Given the description of an element on the screen output the (x, y) to click on. 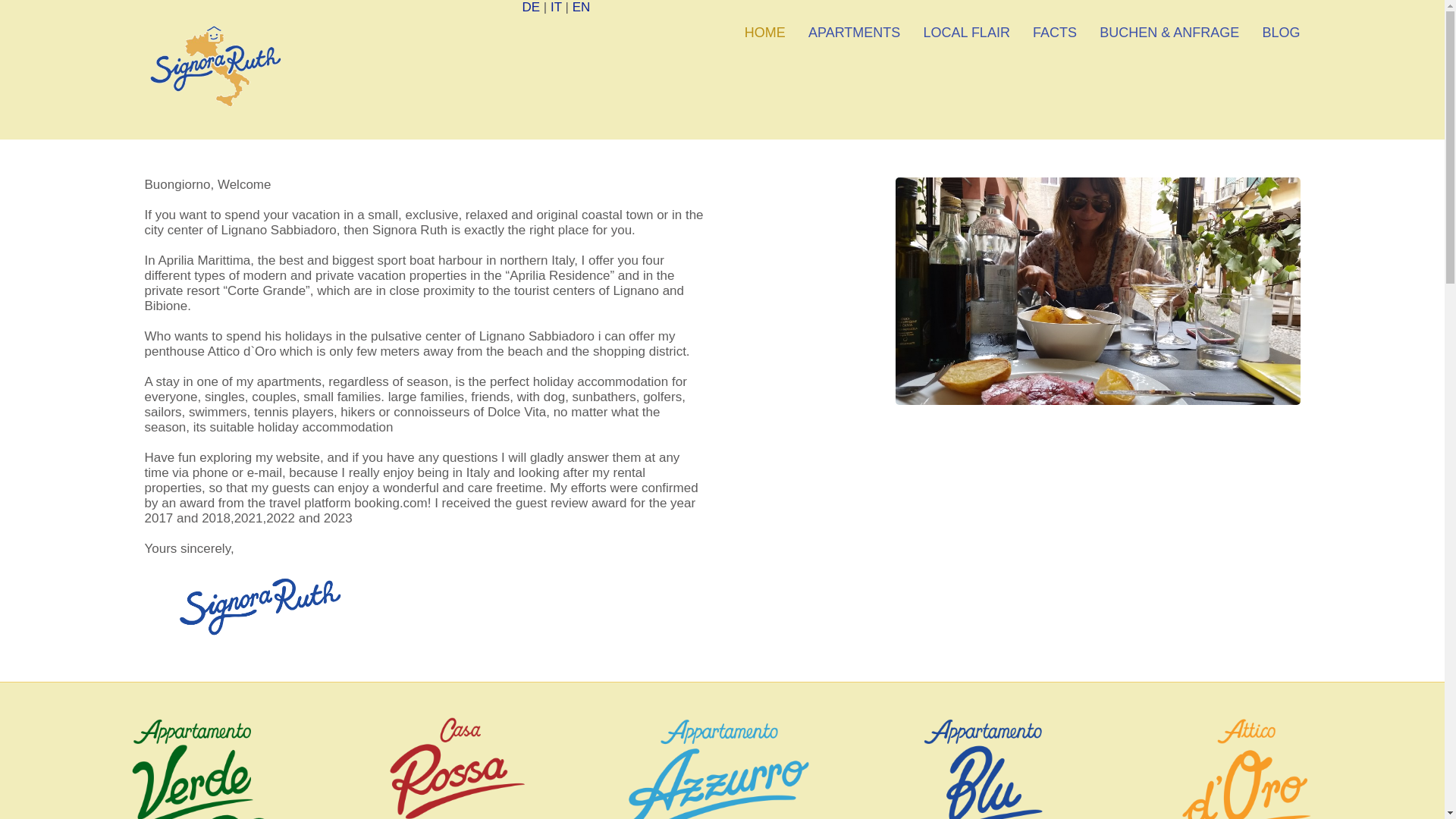
LOCAL FLAIR (967, 32)
APARTMENTS (853, 32)
EN (581, 7)
HOME (764, 32)
DE (530, 7)
Deutsch (530, 7)
FACTS (1054, 32)
Englich (581, 7)
